Given the description of an element on the screen output the (x, y) to click on. 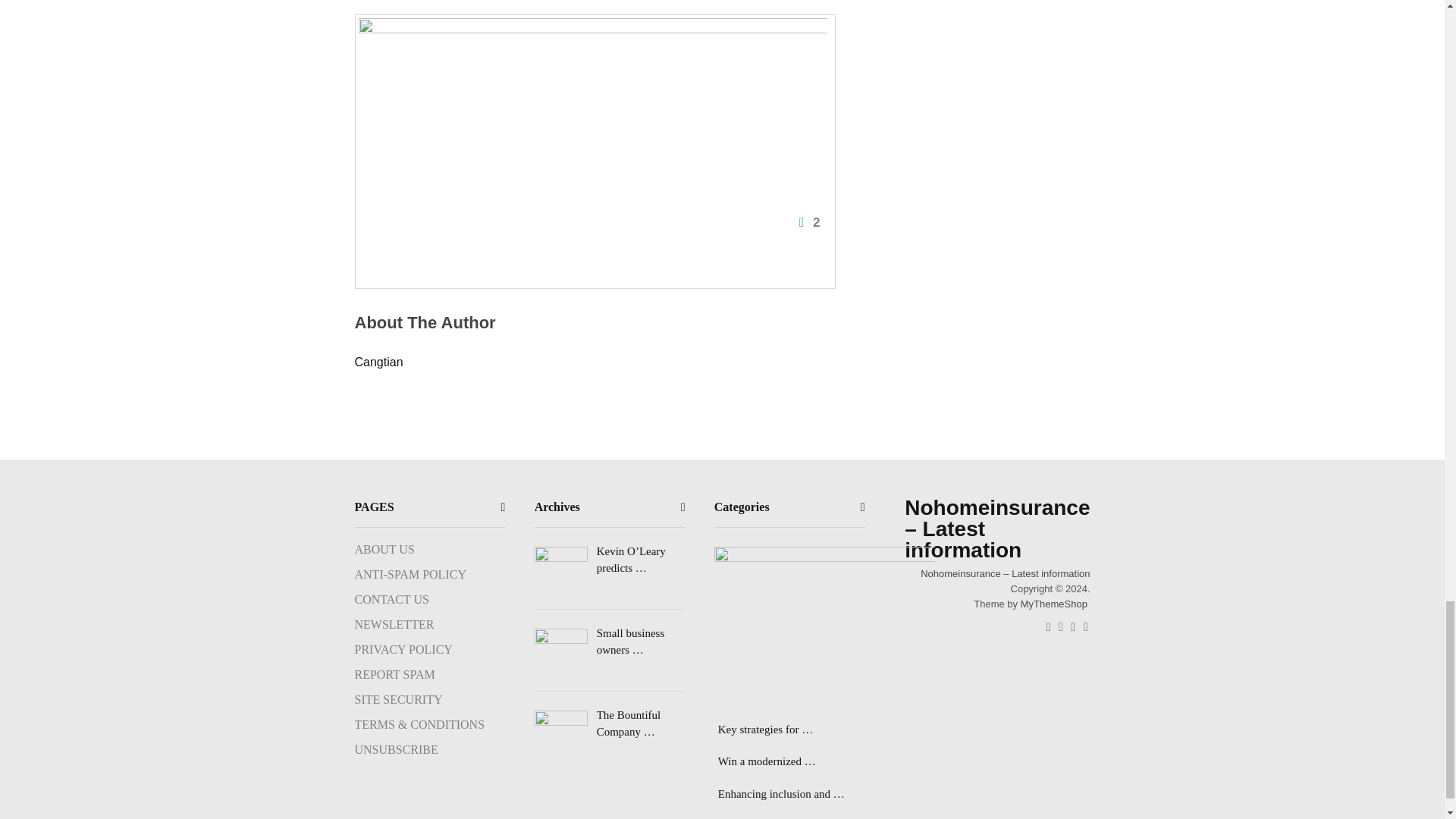
Small business owners say credit crunch post-SVB has arrived (609, 641)
Cangtian (379, 361)
2 (592, 127)
MyThemeShop (1053, 603)
Insurance, Innovation, Automotive, Business, Lifestyle (1004, 573)
